Given the description of an element on the screen output the (x, y) to click on. 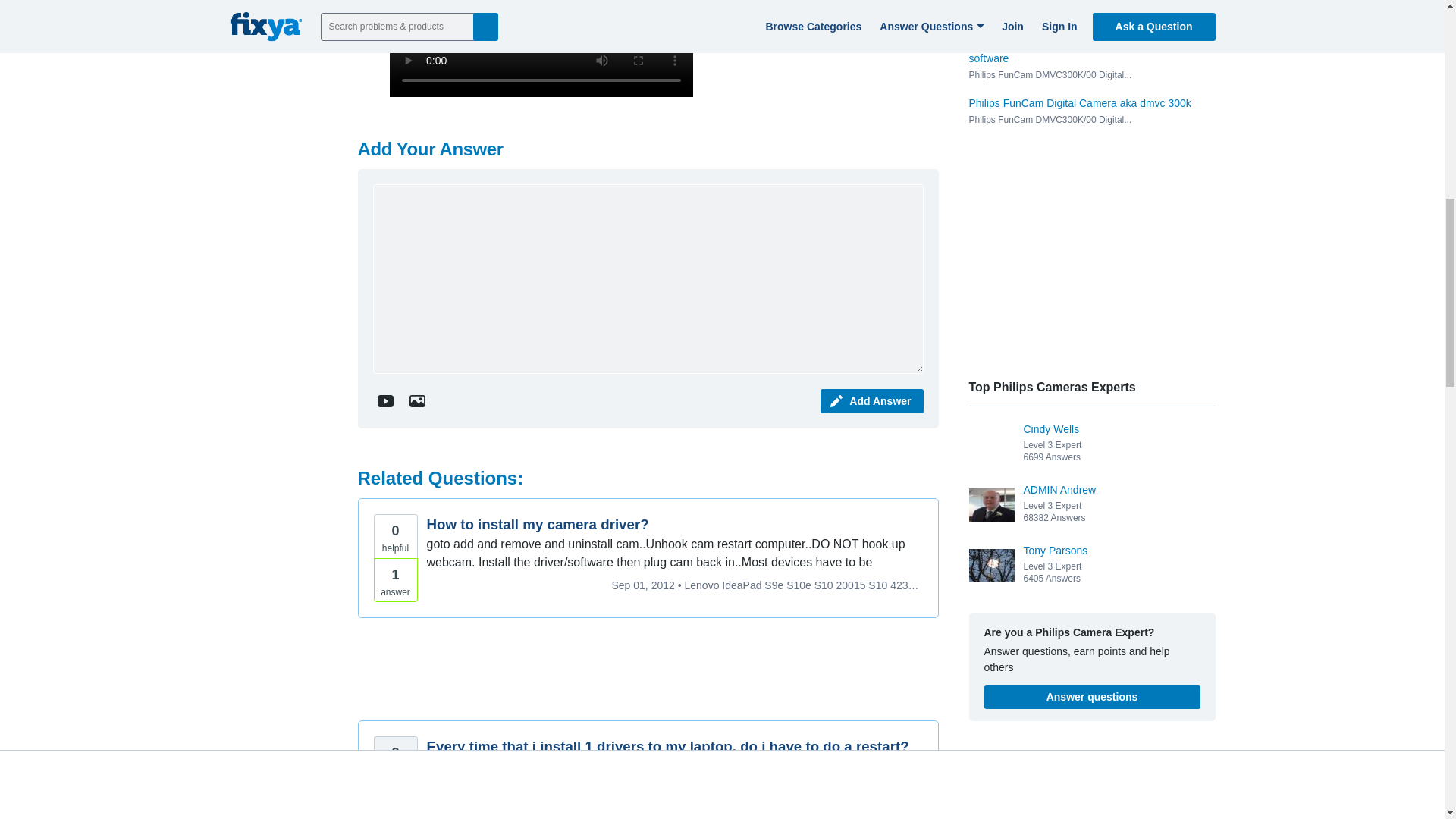
Add Answer (872, 401)
